Given the description of an element on the screen output the (x, y) to click on. 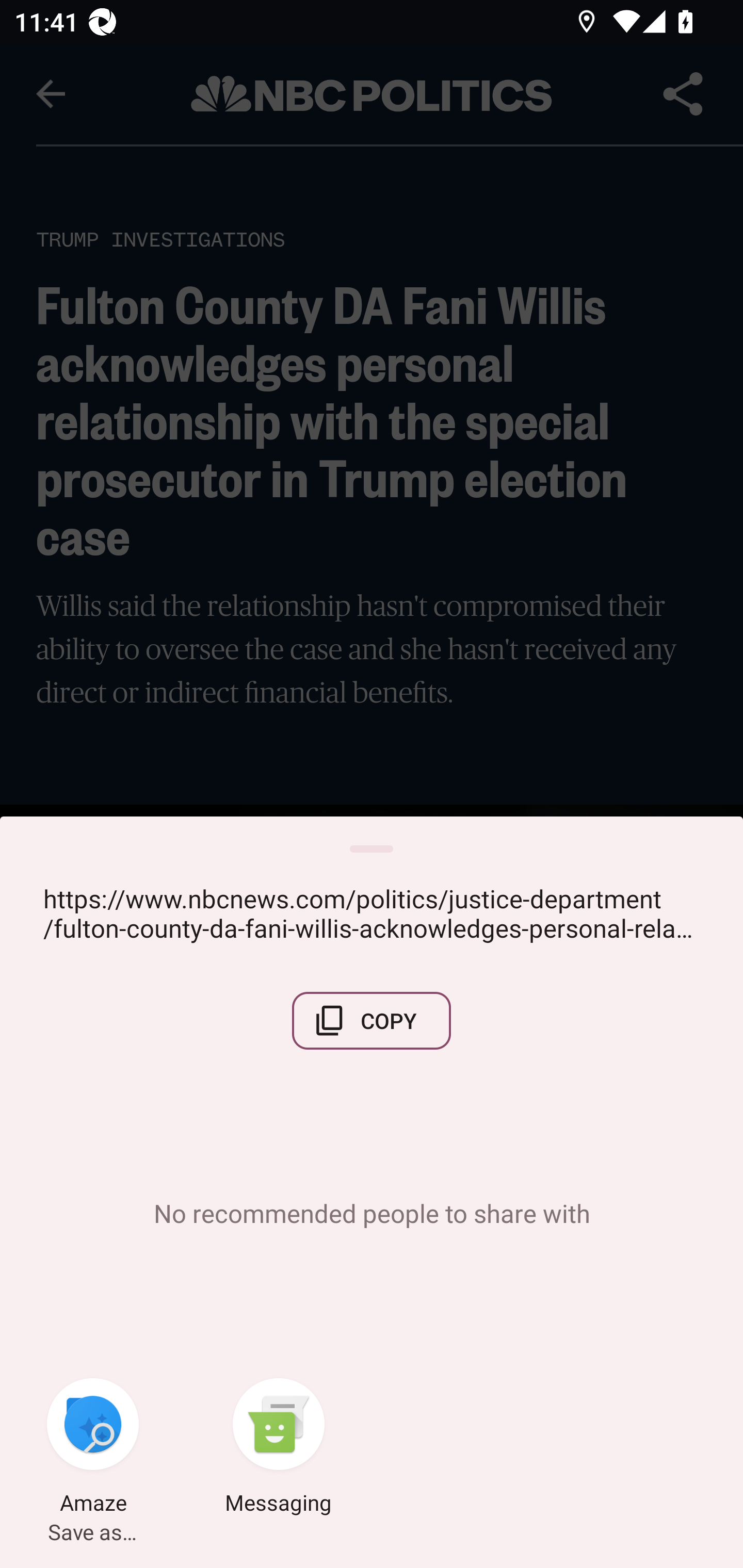
COPY (371, 1020)
Amaze Save as… (92, 1448)
Messaging (278, 1448)
